Given the description of an element on the screen output the (x, y) to click on. 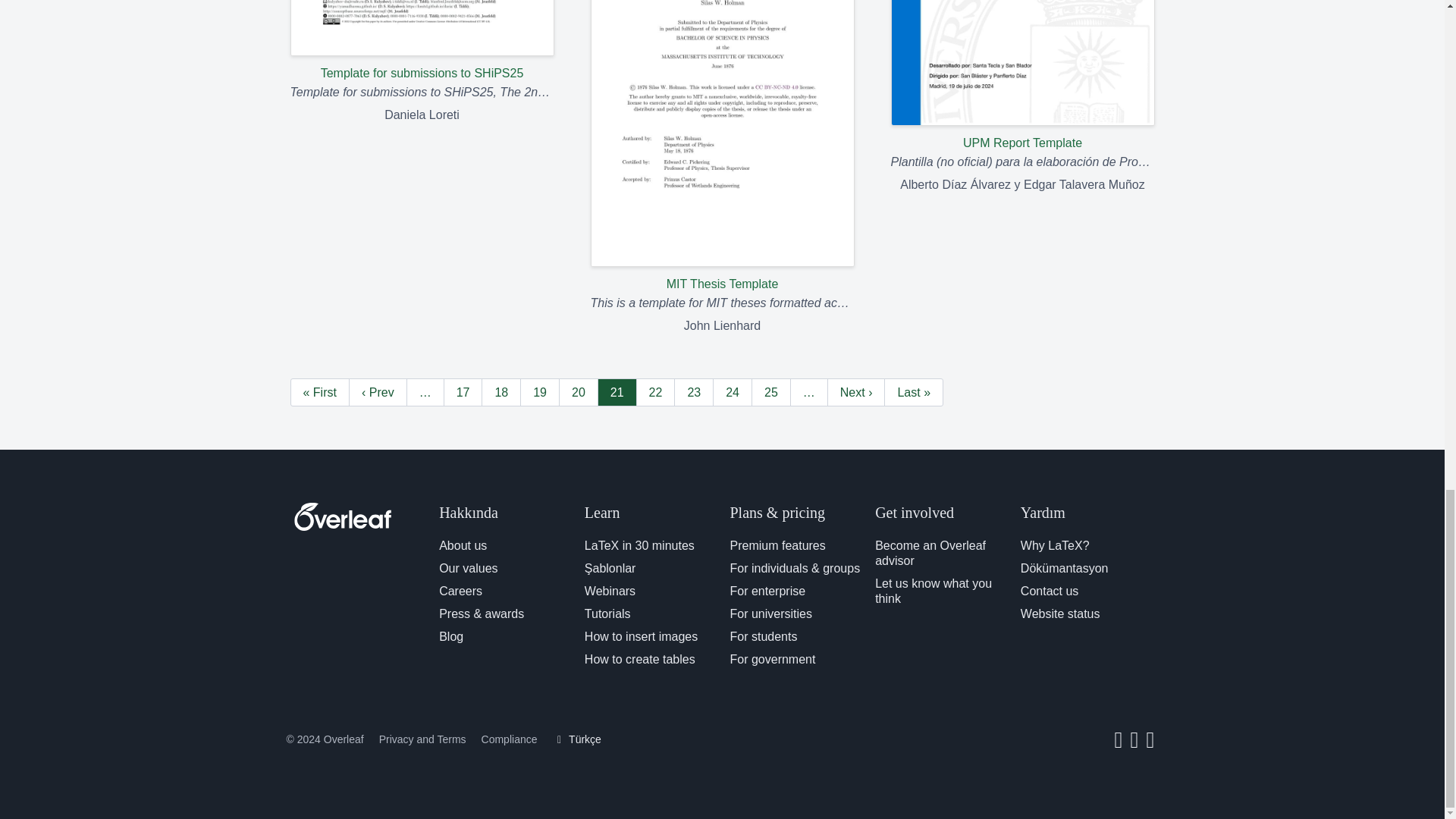
23 (693, 392)
17 (463, 392)
Template for submissions to SHiPS25 (421, 41)
19 (539, 392)
18 (501, 392)
MIT Thesis Template (721, 147)
20 (578, 392)
22 (655, 392)
Dil (575, 739)
UPM Report Template (1021, 75)
